Given the description of an element on the screen output the (x, y) to click on. 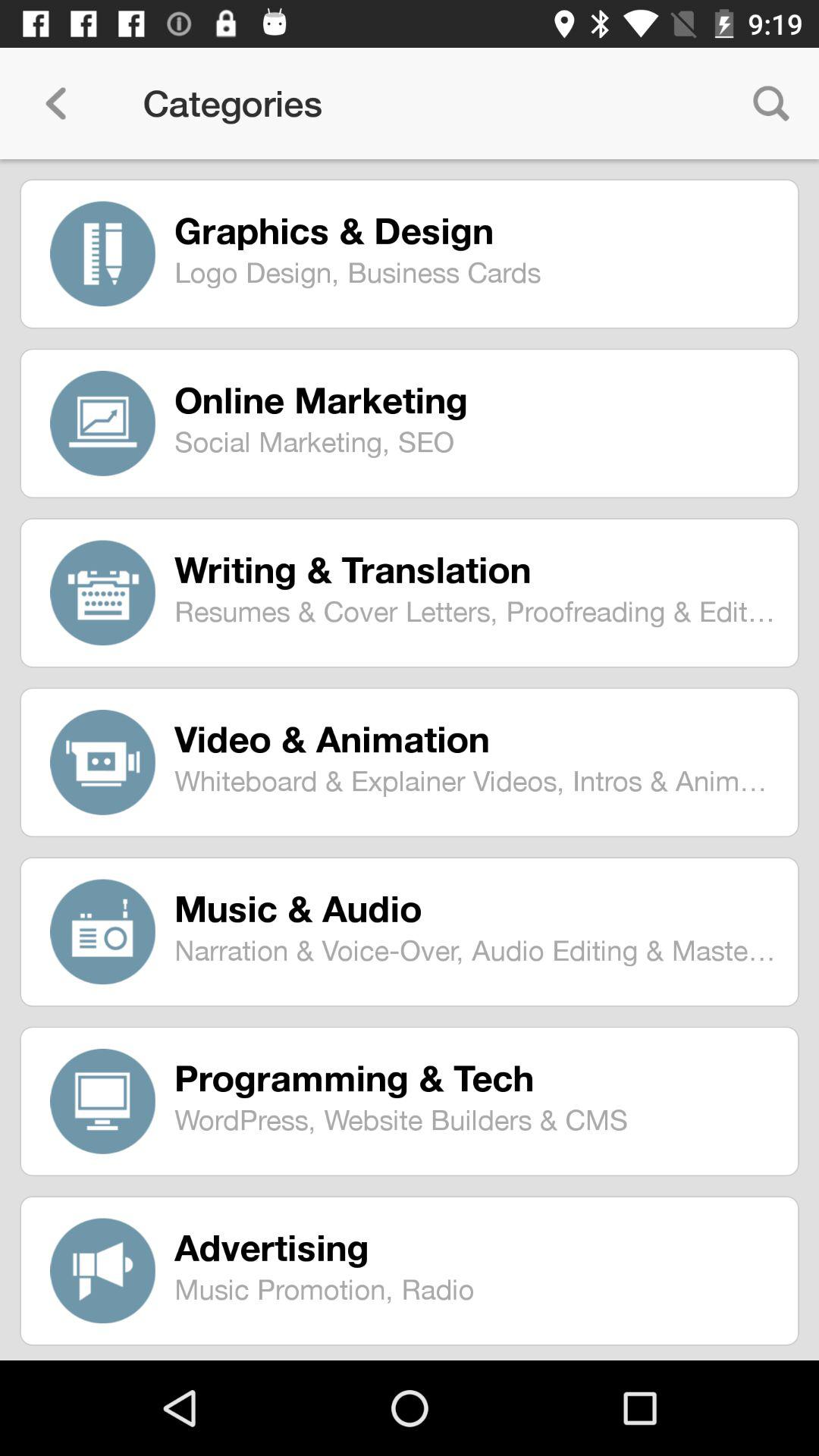
open the item to the left of the categories item (55, 103)
